Given the description of an element on the screen output the (x, y) to click on. 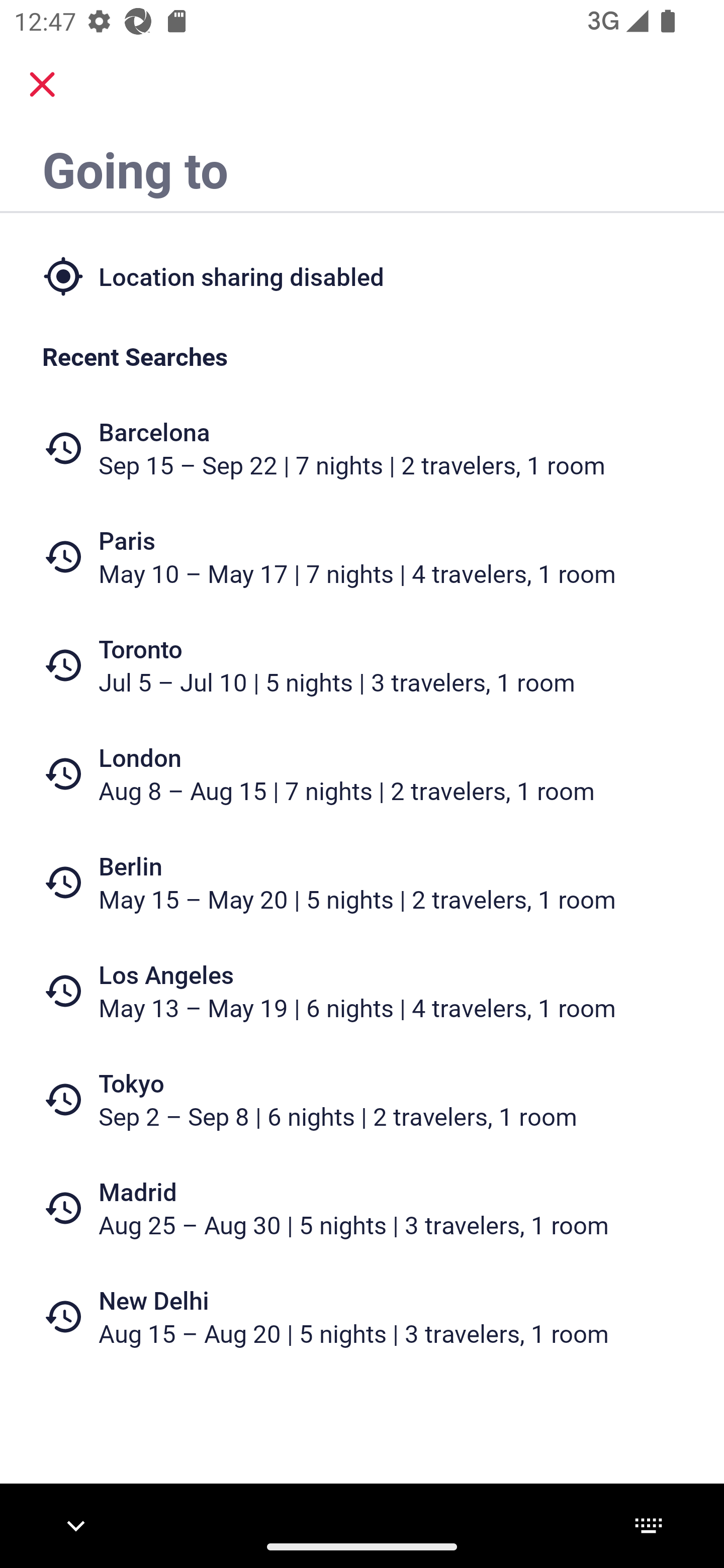
close. (42, 84)
Location sharing disabled (362, 275)
